Given the description of an element on the screen output the (x, y) to click on. 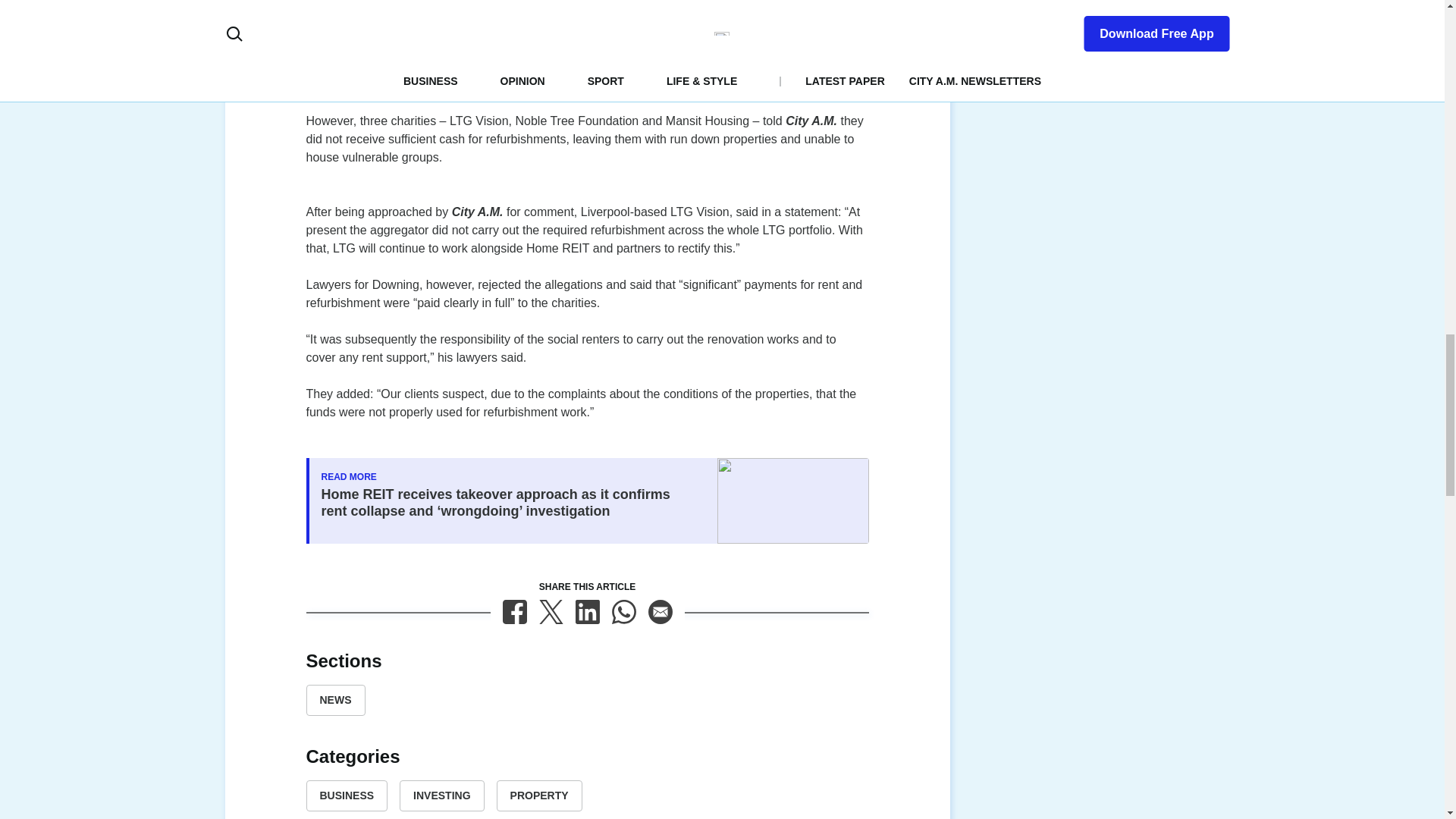
X (550, 611)
LinkedIn (586, 611)
WhatsApp (622, 611)
Facebook (513, 611)
Email (659, 611)
